Given the description of an element on the screen output the (x, y) to click on. 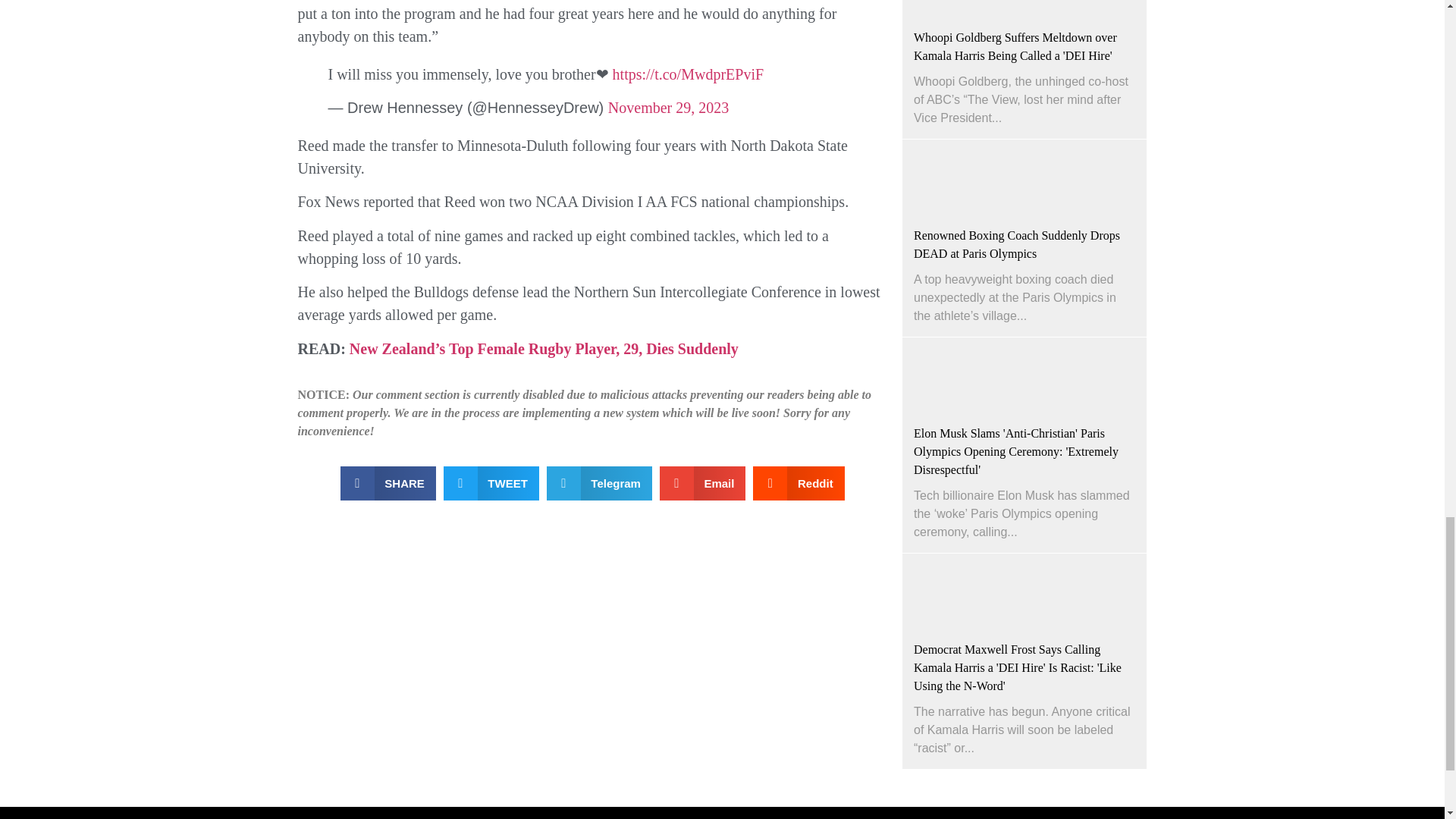
November 29, 2023 (668, 107)
